Given the description of an element on the screen output the (x, y) to click on. 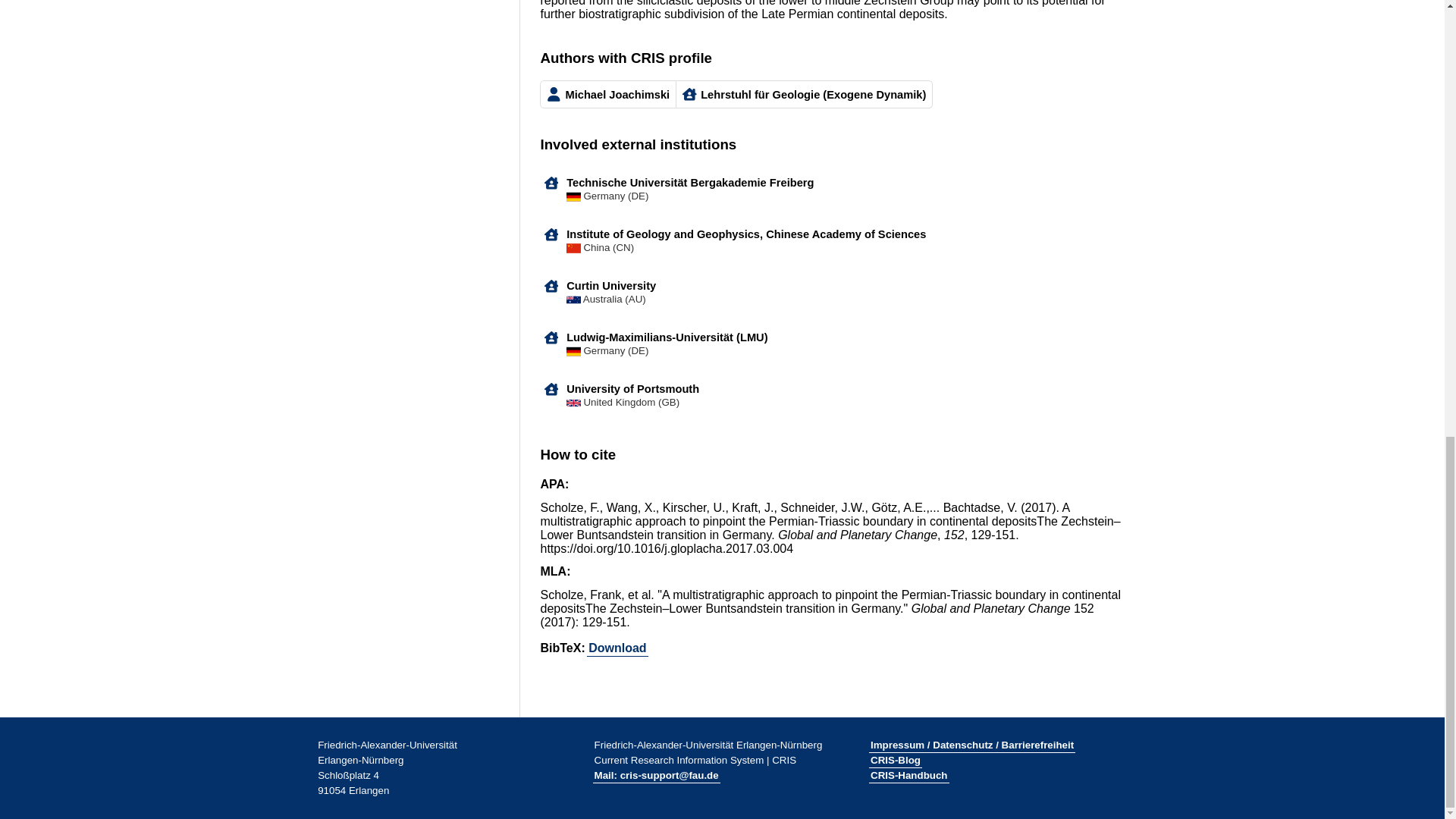
CRIS-Blog (895, 760)
Download (616, 647)
Michael Joachimski (608, 94)
CRIS-Handbuch (909, 775)
